Given the description of an element on the screen output the (x, y) to click on. 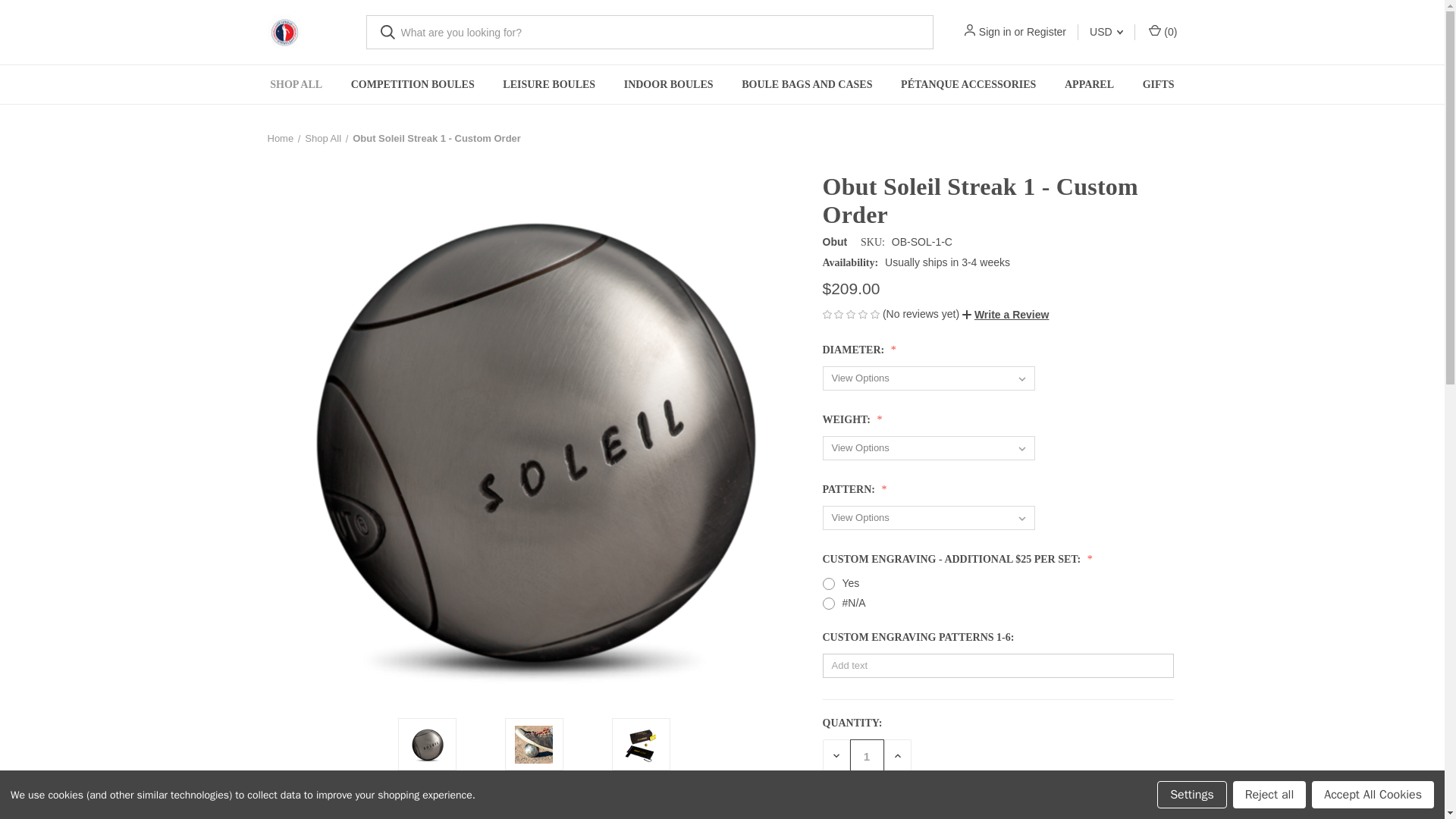
Sign in (994, 32)
Add text (997, 665)
INDOOR BOULES (668, 84)
LEISURE BOULES (549, 84)
Obut Soleil Streak 1 - Custom Order (640, 744)
1 (865, 756)
Register (1045, 32)
SHOP ALL (296, 84)
Obut Soleil Streak 1 - Custom Order (427, 744)
Obut Soleil Streak 1 - Custom Order (534, 744)
BOULE BAGS AND CASES (806, 84)
Add to Cart (890, 812)
COMPETITION BOULES (412, 84)
